Given the description of an element on the screen output the (x, y) to click on. 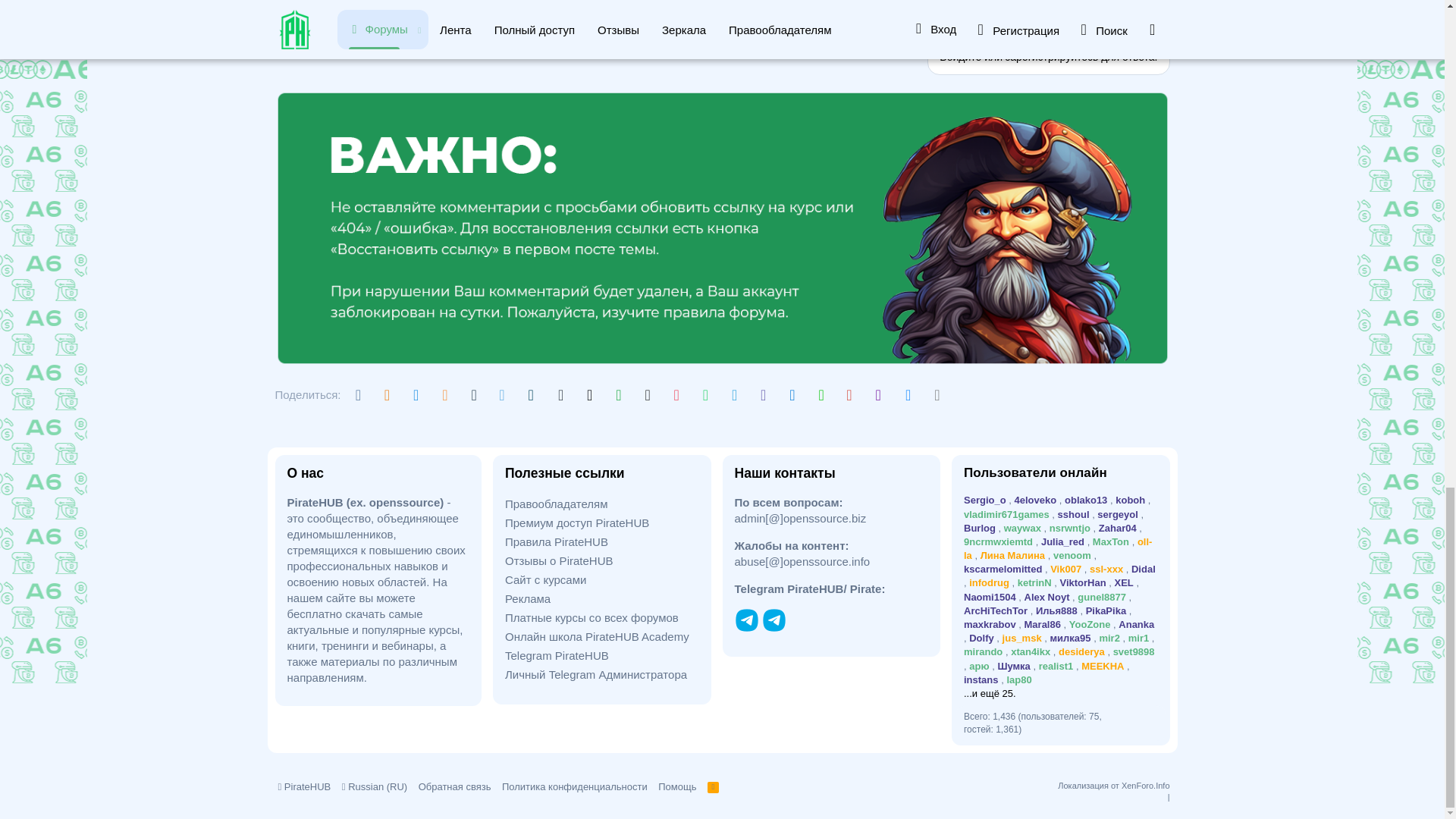
RSS (713, 786)
